Given the description of an element on the screen output the (x, y) to click on. 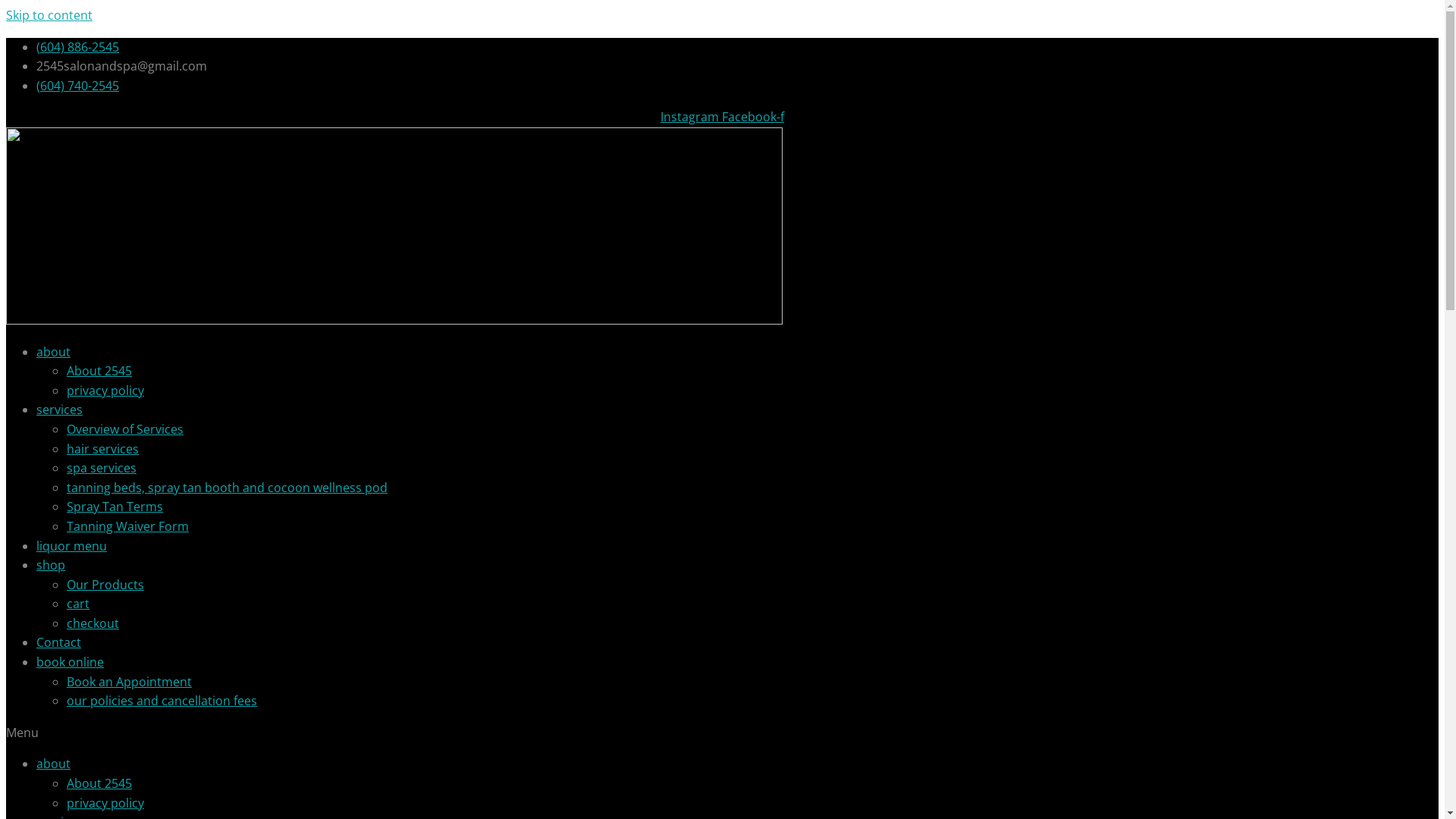
About 2545 Element type: text (98, 370)
Tanning Waiver Form Element type: text (127, 525)
liquor menu Element type: text (71, 544)
cart Element type: text (77, 603)
services Element type: text (59, 409)
Spray Tan Terms Element type: text (114, 506)
our policies and cancellation fees Element type: text (161, 700)
Book an Appointment Element type: text (128, 681)
about Element type: text (53, 763)
privacy policy Element type: text (105, 802)
About 2545 Element type: text (98, 783)
(604) 886-2545 Element type: text (77, 46)
book online Element type: text (69, 661)
Facebook-f Element type: text (752, 116)
checkout Element type: text (92, 623)
about Element type: text (53, 351)
Our Products Element type: text (105, 584)
Overview of Services Element type: text (124, 428)
tanning beds, spray tan booth and cocoon wellness pod Element type: text (226, 487)
Skip to content Element type: text (49, 14)
Contact Element type: text (58, 641)
privacy policy Element type: text (105, 390)
(604) 740-2545 Element type: text (77, 85)
hair services Element type: text (102, 448)
spa services Element type: text (101, 467)
shop Element type: text (50, 564)
Instagram Element type: text (690, 116)
